Given the description of an element on the screen output the (x, y) to click on. 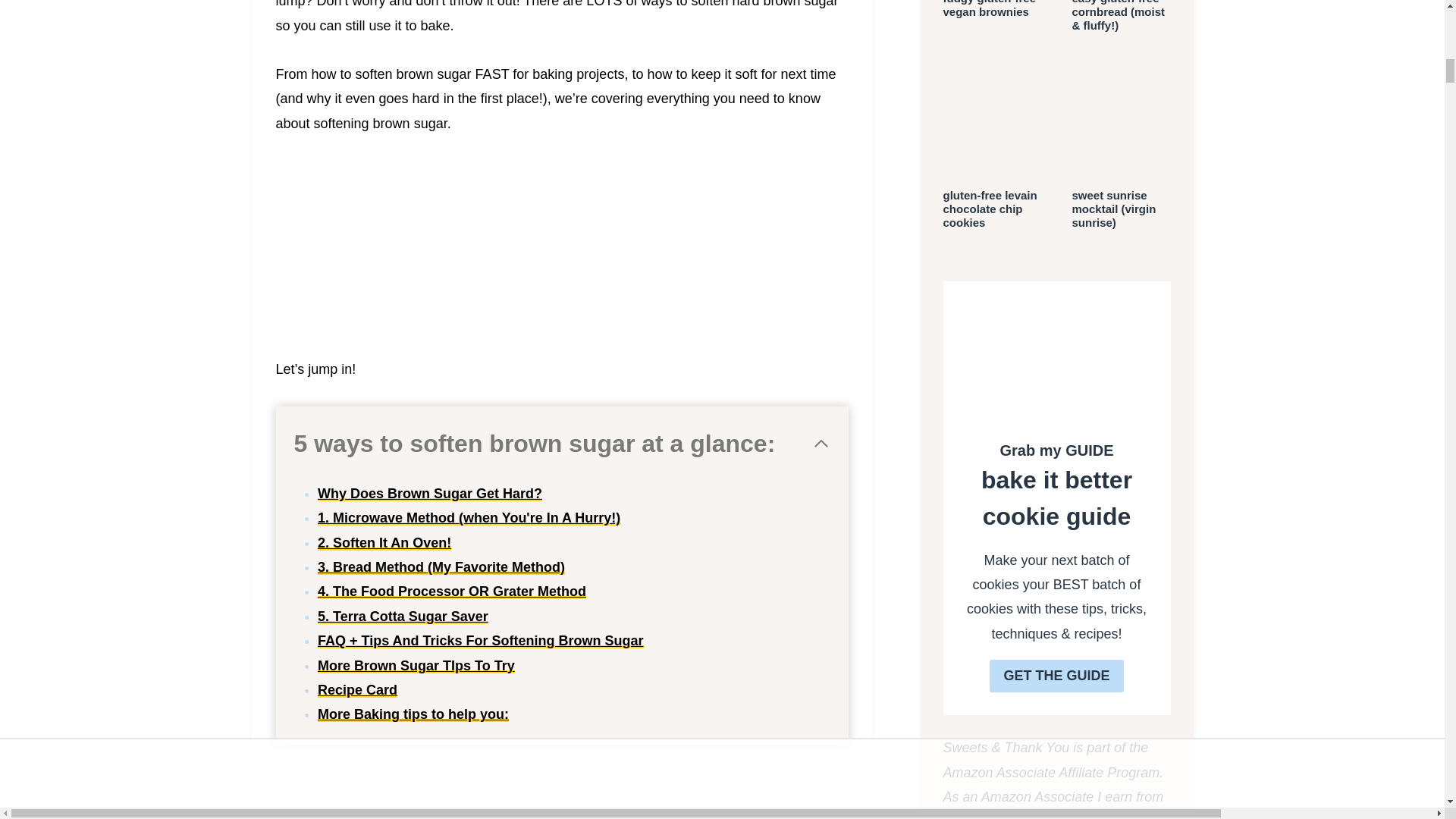
More Brown Sugar TIps To Try (416, 665)
Why Does Brown Sugar Get Hard? (429, 493)
2. Soften It An Oven! (384, 542)
5. Terra Cotta Sugar Saver (402, 616)
5 ways to soften brown sugar at a glance: (561, 444)
4. The Food Processor OR Grater Method (451, 590)
